Given the description of an element on the screen output the (x, y) to click on. 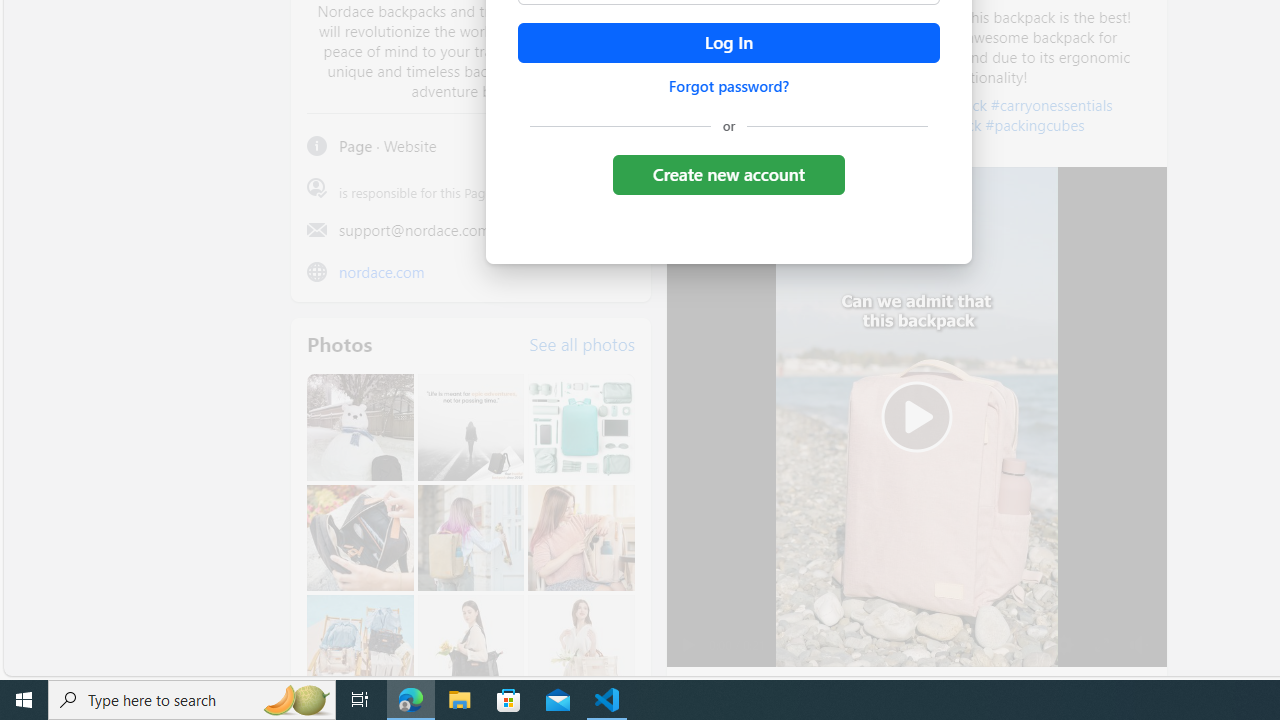
Create new account (728, 174)
Accessible login button (728, 43)
Forgot password? (728, 85)
